Given the description of an element on the screen output the (x, y) to click on. 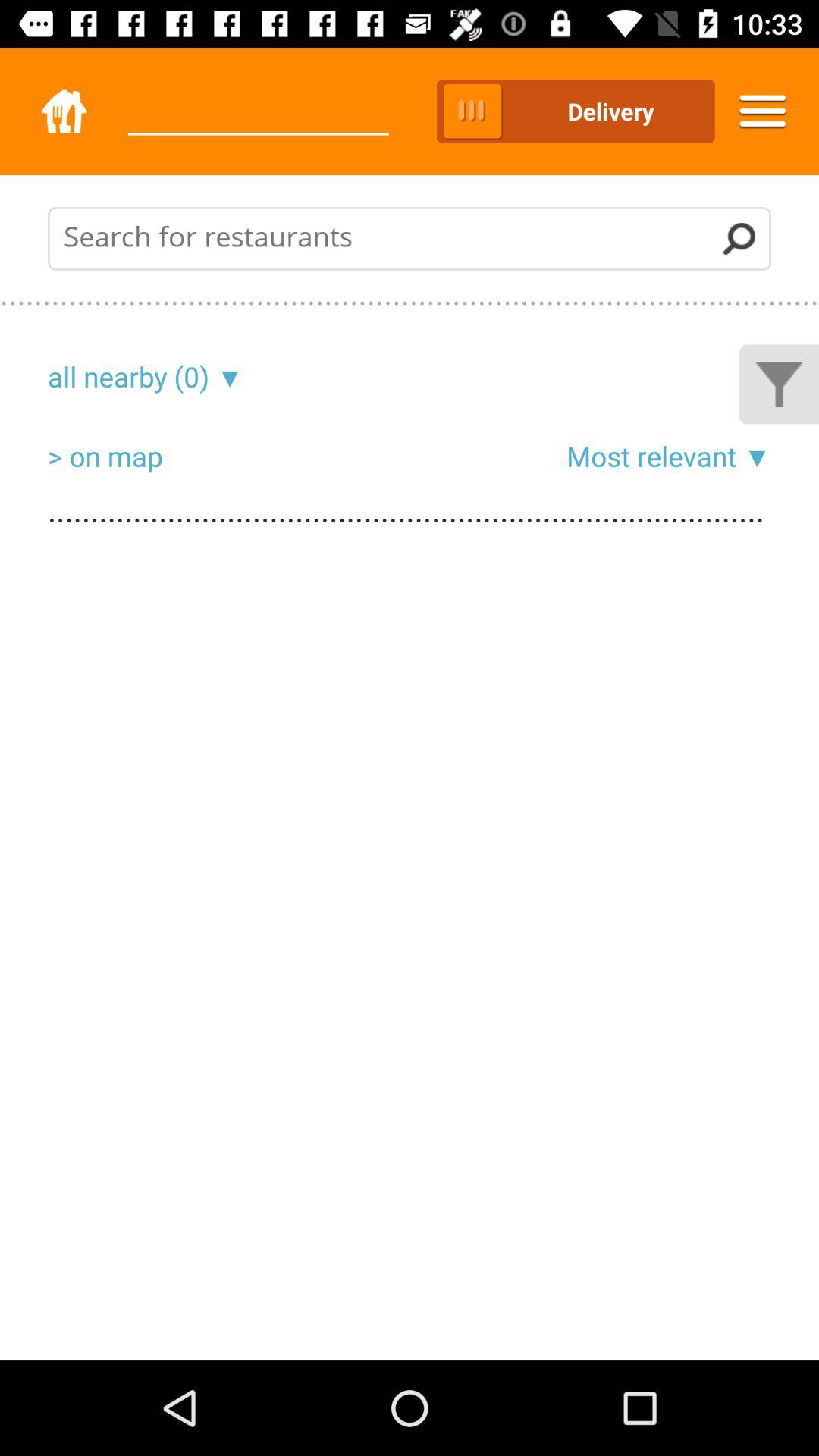
launch the item below the all nearby (0) item (104, 455)
